Given the description of an element on the screen output the (x, y) to click on. 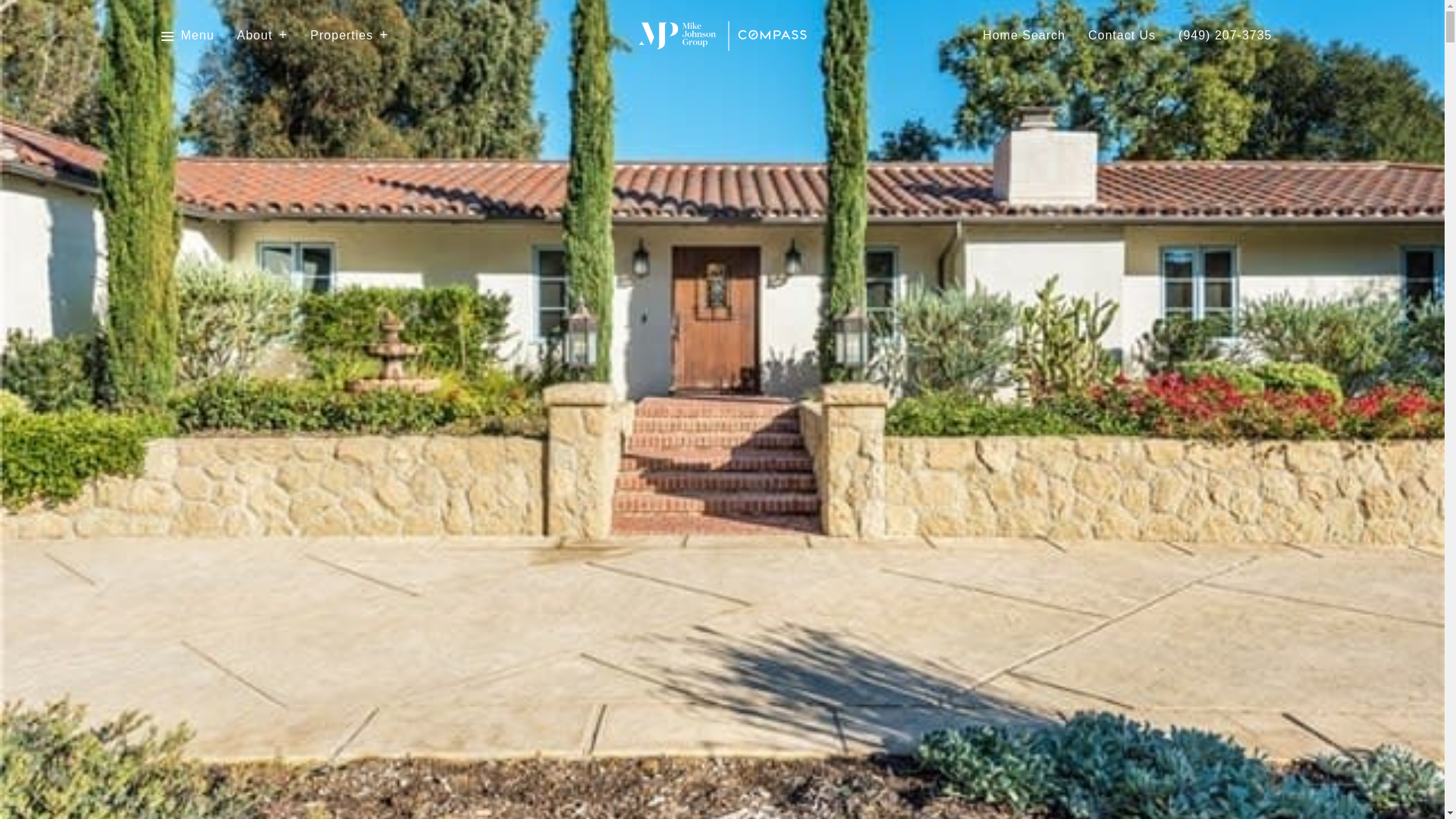
About (262, 35)
Home Search (1023, 35)
Menu (187, 35)
Properties (349, 35)
Menu (197, 35)
Contact Us (1121, 35)
